Given the description of an element on the screen output the (x, y) to click on. 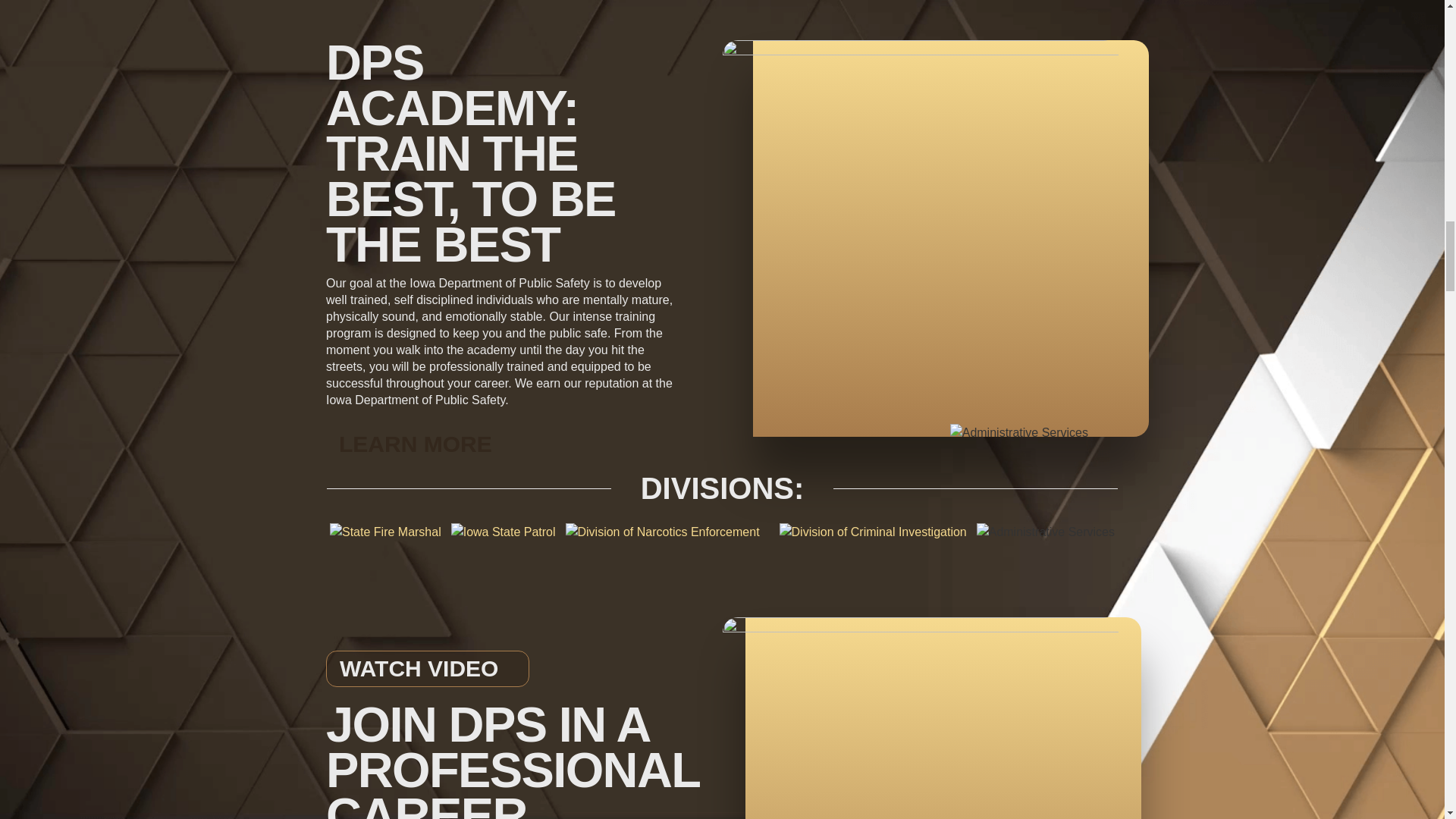
LEARN MORE (415, 443)
Division of Narcotics Enforcement (663, 532)
WATCH VIDEO (427, 668)
Iowa State Patrol (503, 532)
Administrative Services (1018, 433)
Administrative Services (1045, 532)
Division of Criminal Investigation (872, 532)
State Fire Marshal (385, 532)
